Given the description of an element on the screen output the (x, y) to click on. 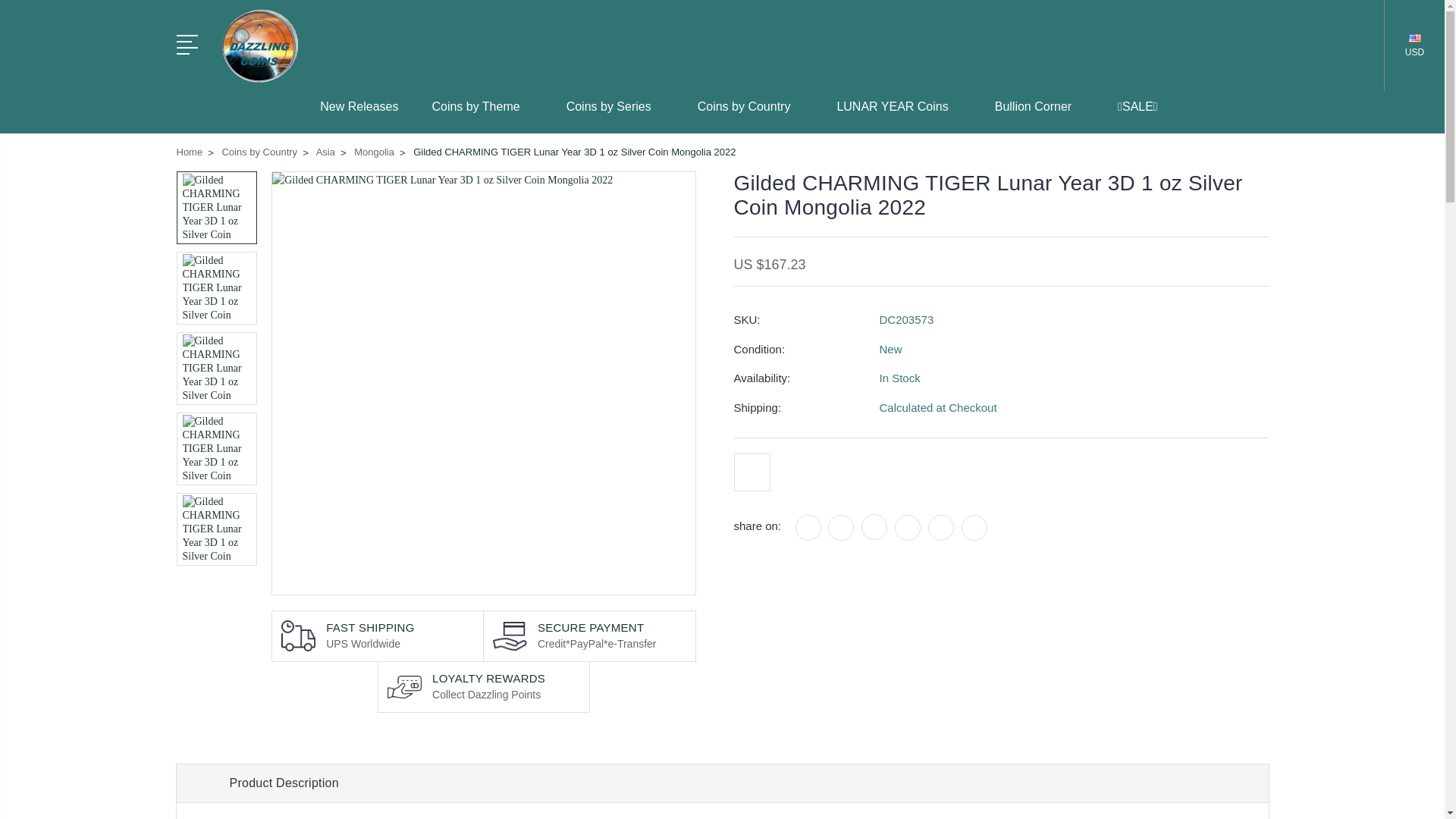
Dazzling Coins (259, 45)
